Given the description of an element on the screen output the (x, y) to click on. 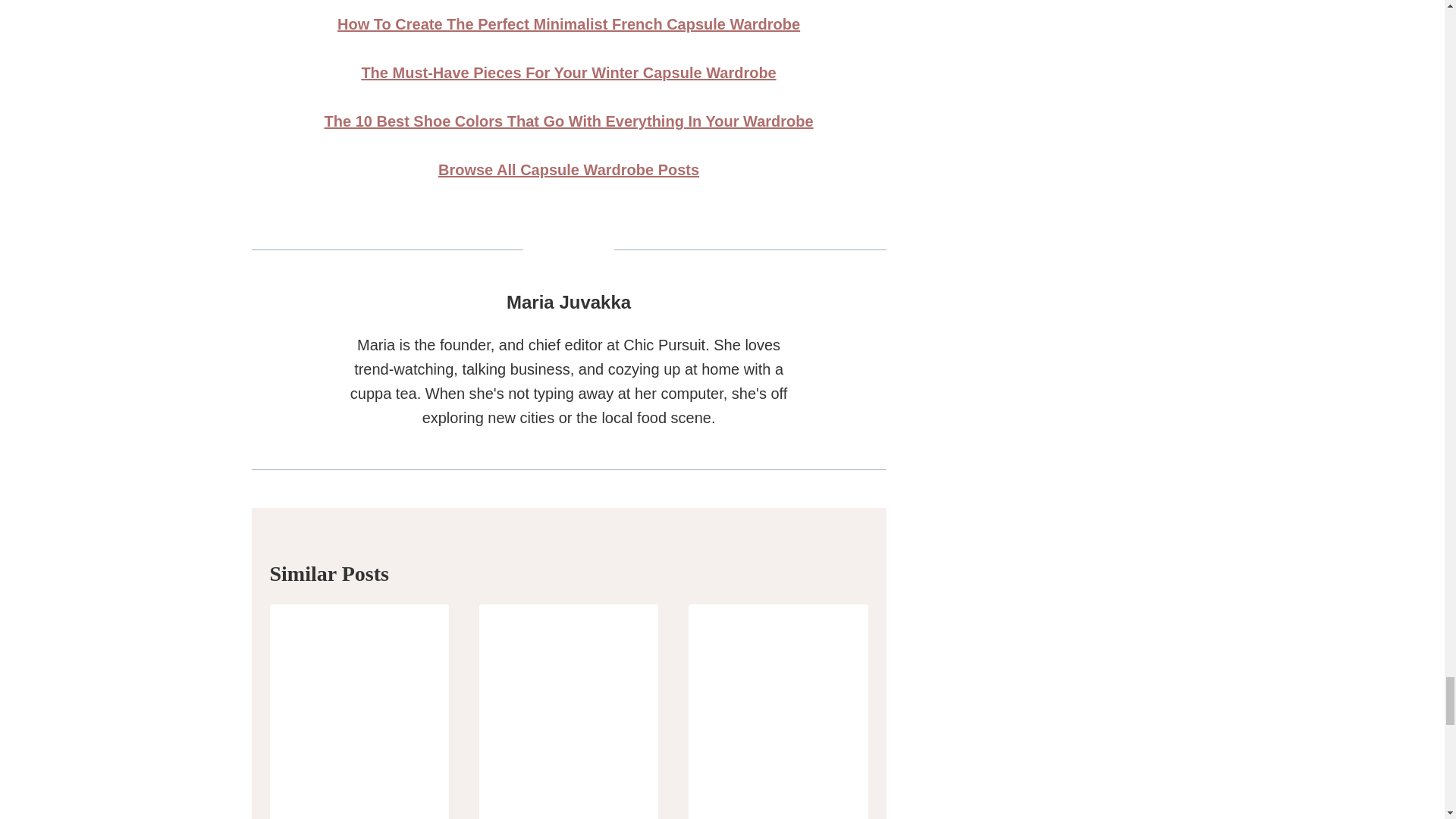
Posts by Maria Juvakka (568, 301)
